Given the description of an element on the screen output the (x, y) to click on. 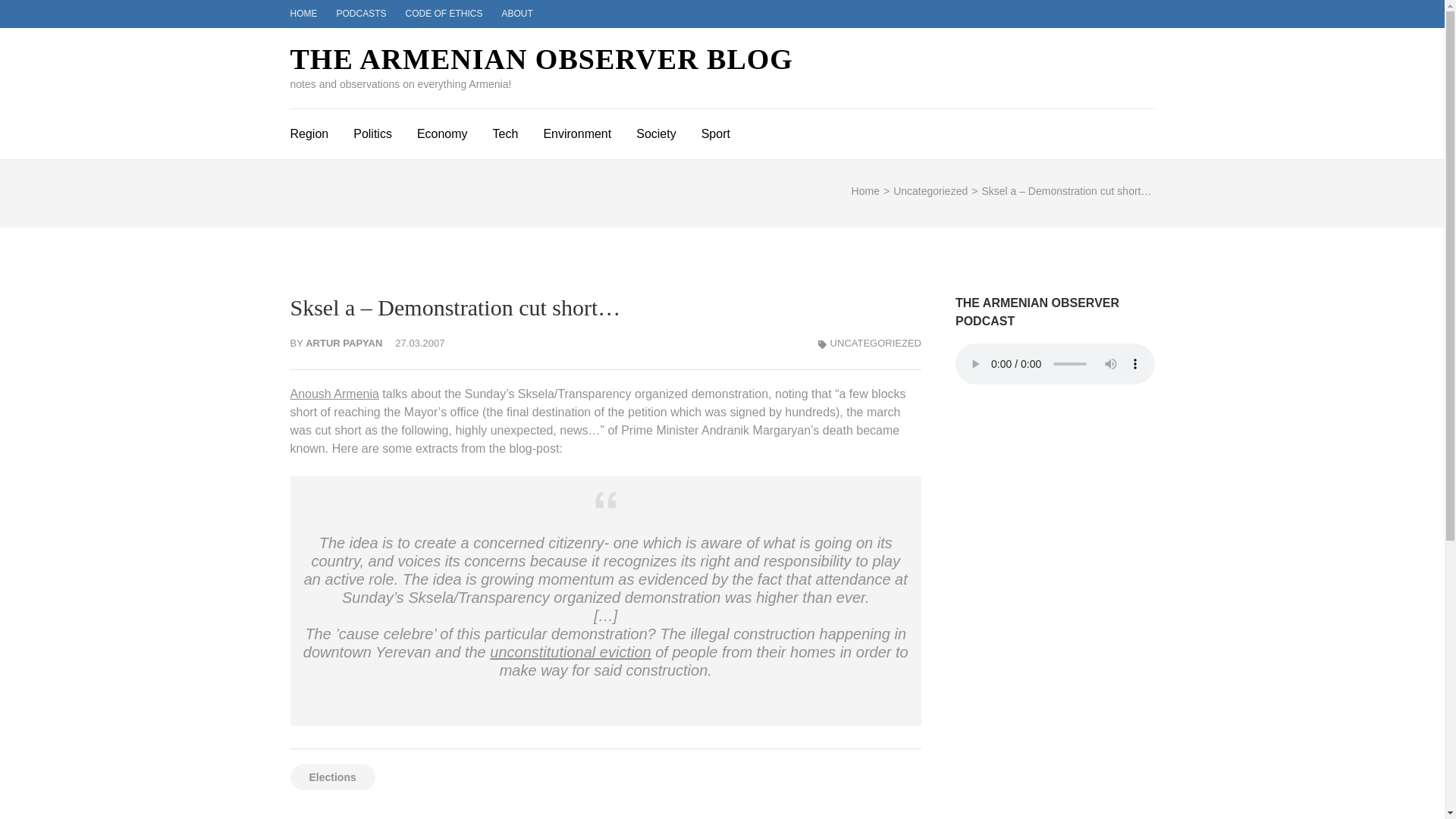
CODE OF ETHICS (444, 13)
Economy (441, 131)
HOME (303, 13)
PODCASTS (361, 13)
Environment (577, 131)
ABOUT (517, 13)
THE ARMENIAN OBSERVER BLOG (540, 59)
